Given the description of an element on the screen output the (x, y) to click on. 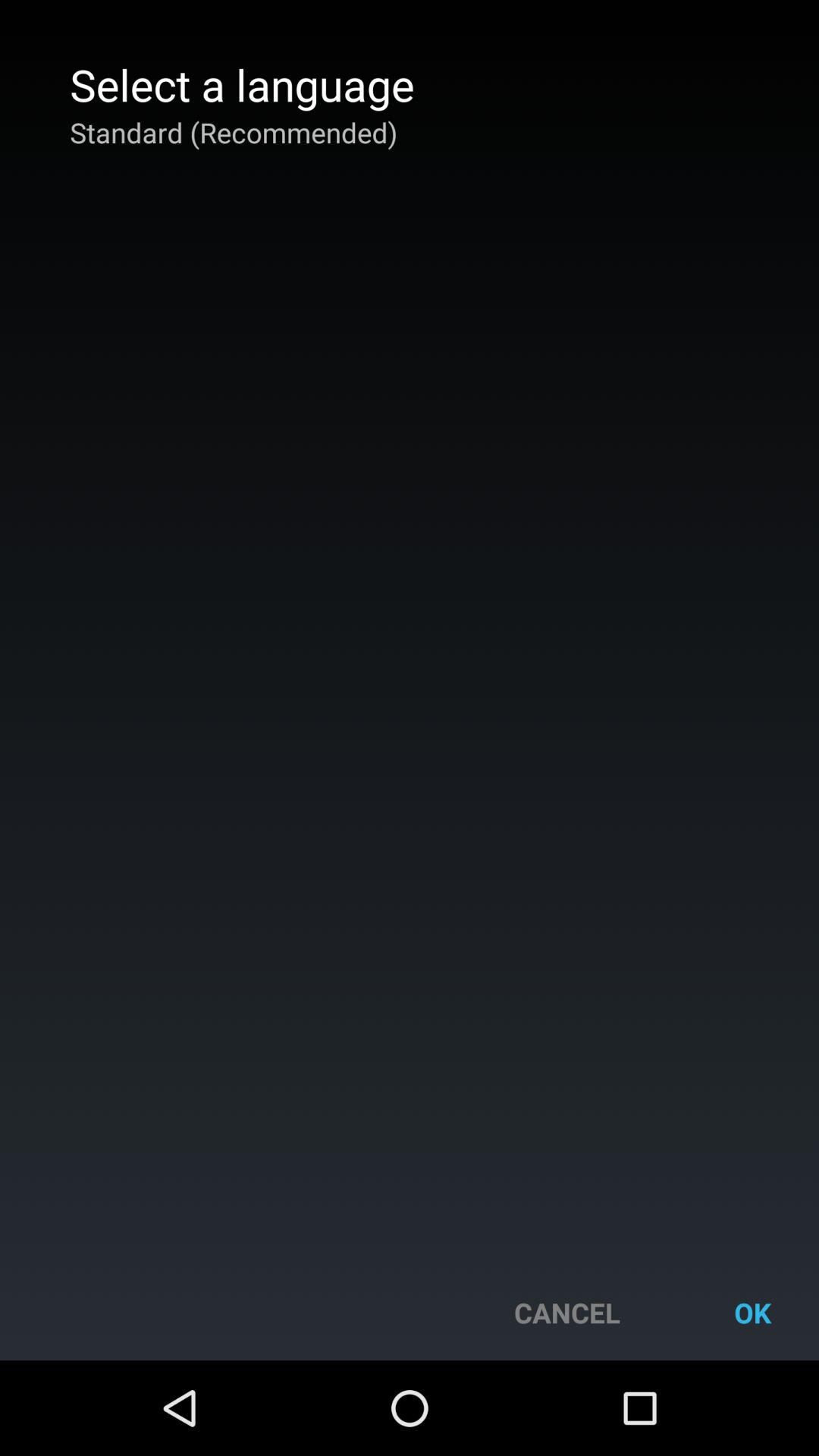
press ok (752, 1312)
